Given the description of an element on the screen output the (x, y) to click on. 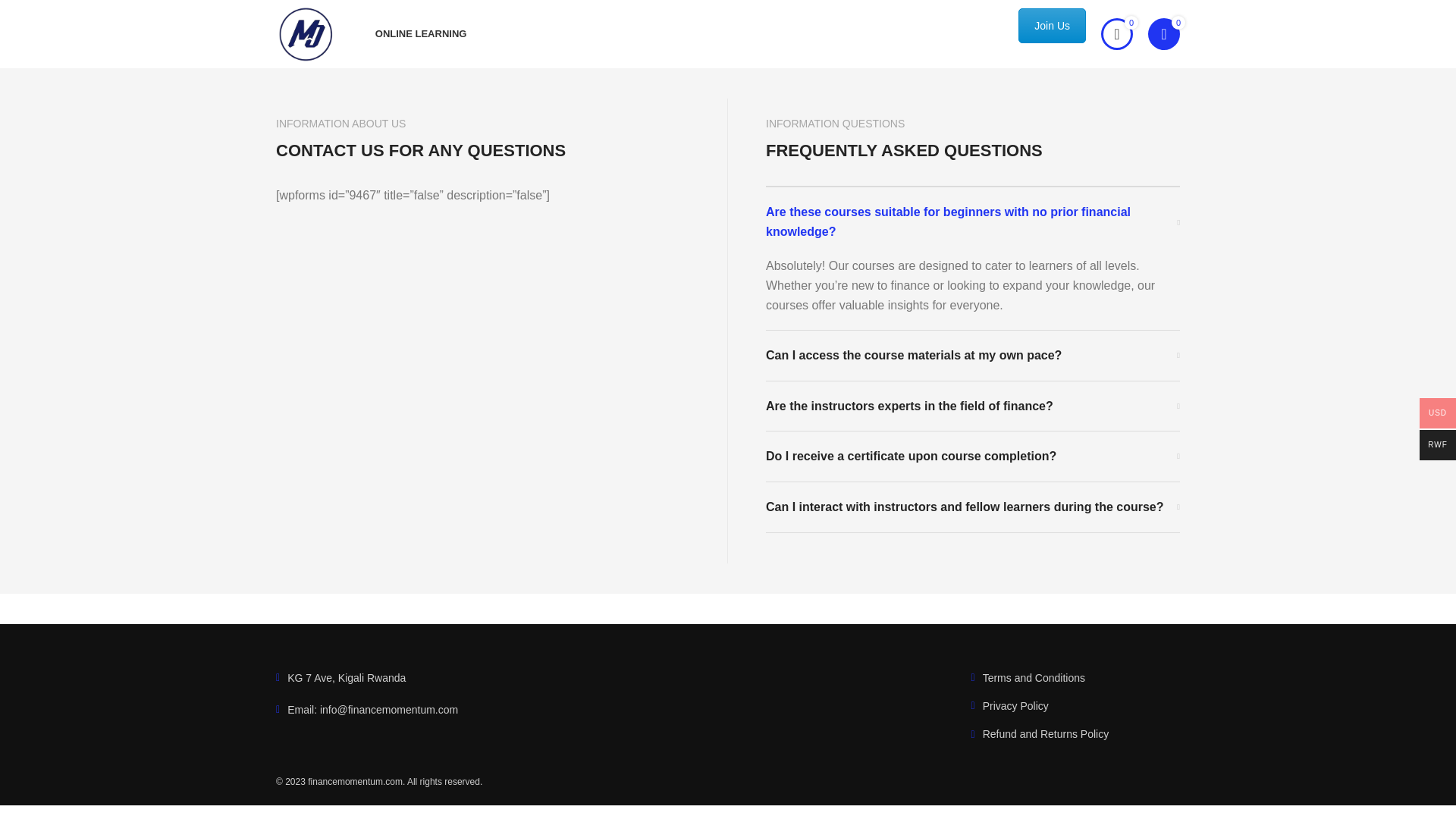
Refund and Returns Policy (1075, 733)
My Wishlist (1116, 33)
Join Us (1051, 25)
ONLINE LEARNING (421, 33)
Shopping cart (1164, 33)
Privacy Policy (1075, 705)
Join Us (1051, 25)
Terms of Use (1075, 677)
0 (1116, 33)
0 (1164, 33)
